Given the description of an element on the screen output the (x, y) to click on. 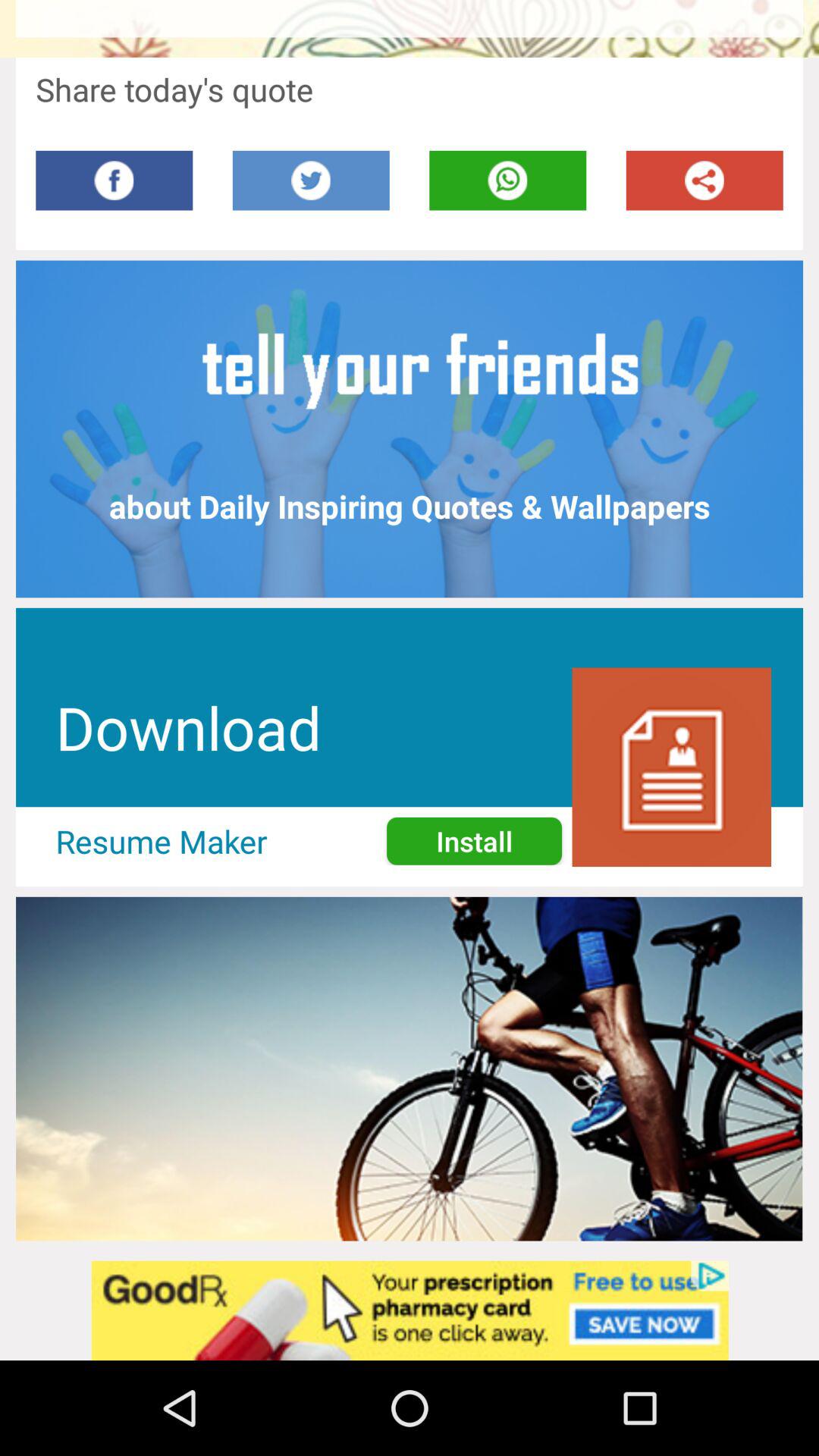
go to facebook (113, 180)
